Given the description of an element on the screen output the (x, y) to click on. 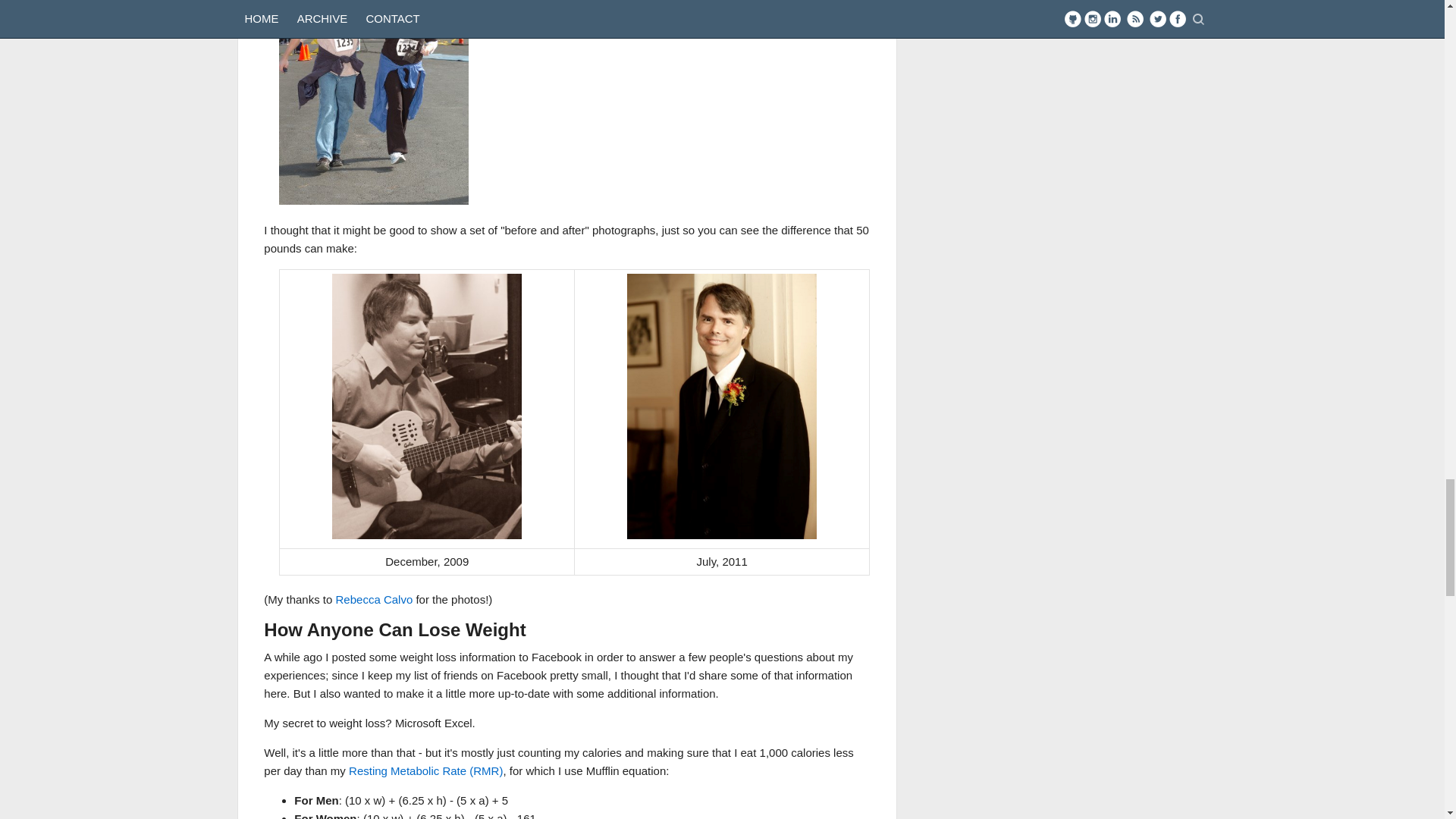
Rebecca Calvo (374, 599)
